Given the description of an element on the screen output the (x, y) to click on. 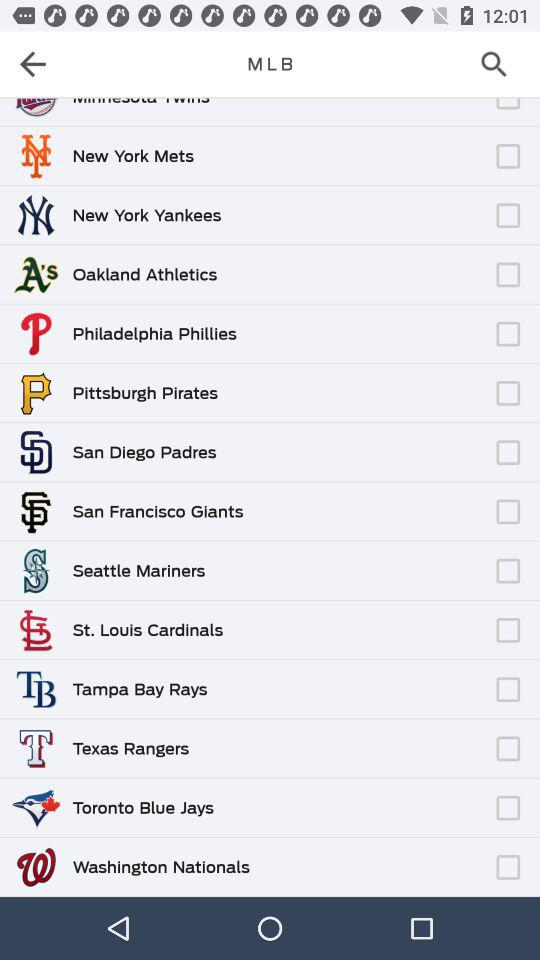
click the item next to the tampa bay rays (348, 679)
